Given the description of an element on the screen output the (x, y) to click on. 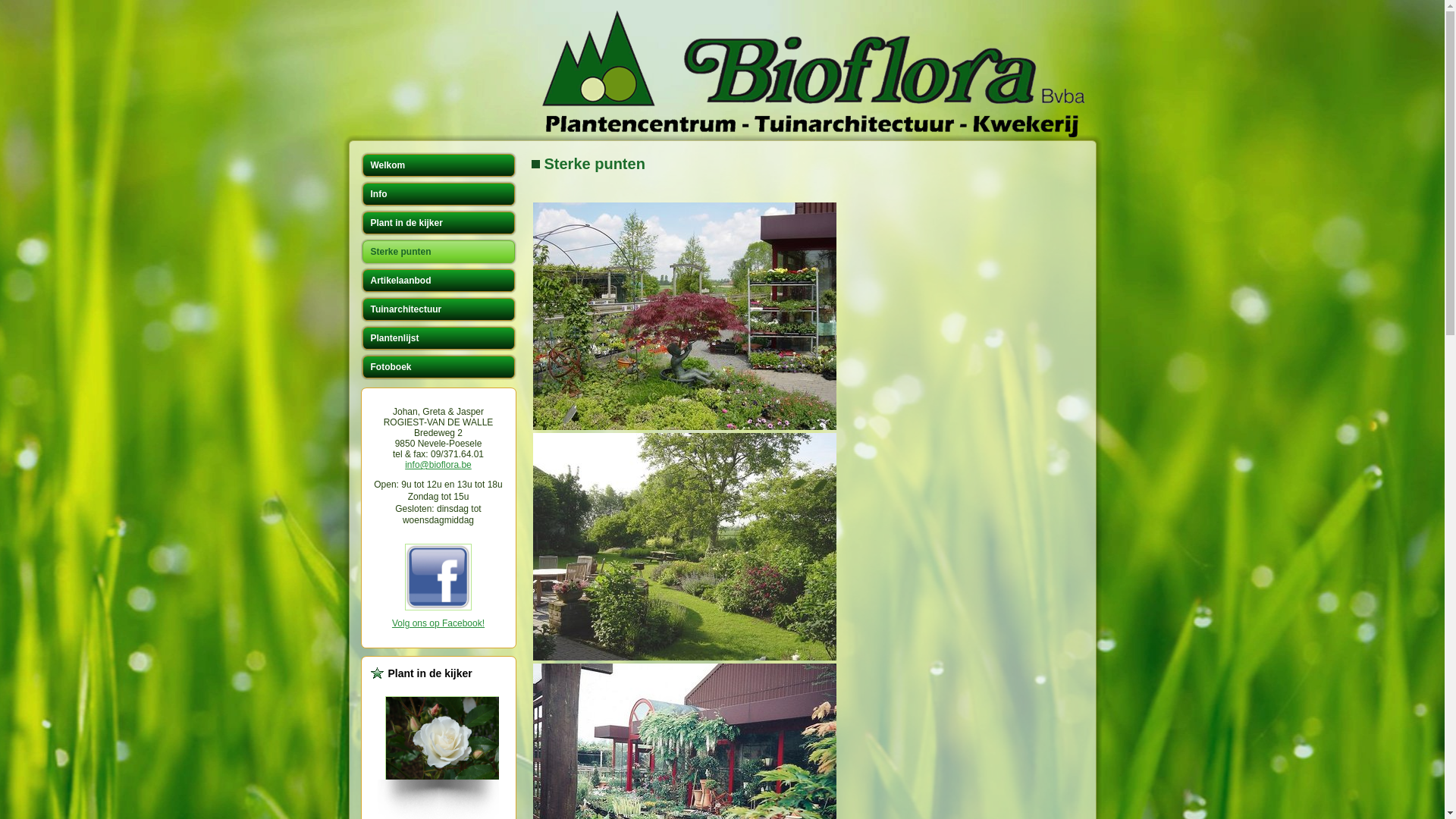
Welkom Element type: text (438, 165)
Info Element type: text (438, 194)
Sterke punten Element type: text (438, 251)
Sterke punten Element type: text (594, 163)
info@bioflora.be Element type: text (437, 464)
Fotoboek Element type: text (438, 366)
Plantenlijst Element type: text (438, 338)
Plant in de kijker Element type: text (438, 222)
Artikelaanbod Element type: text (438, 280)
Tuinarchitectuur Element type: text (438, 309)
Rosa 'Schneeuwittchen' Element type: hover (446, 742)
Volg ons op Facebook! Element type: text (438, 623)
